Given the description of an element on the screen output the (x, y) to click on. 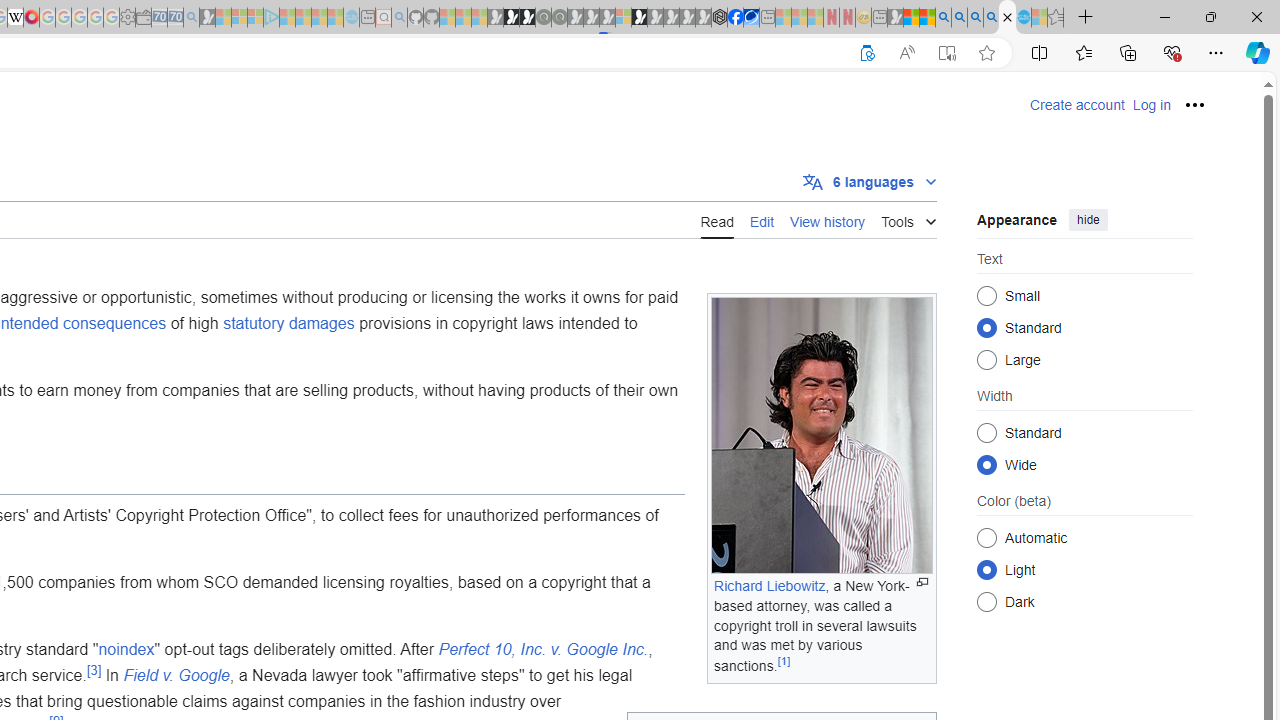
Tools (908, 218)
Sign in to your account - Sleeping (623, 17)
Support Wikipedia? (867, 53)
Settings - Sleeping (127, 17)
Automatic (986, 537)
AirNow.gov (751, 17)
